Given the description of an element on the screen output the (x, y) to click on. 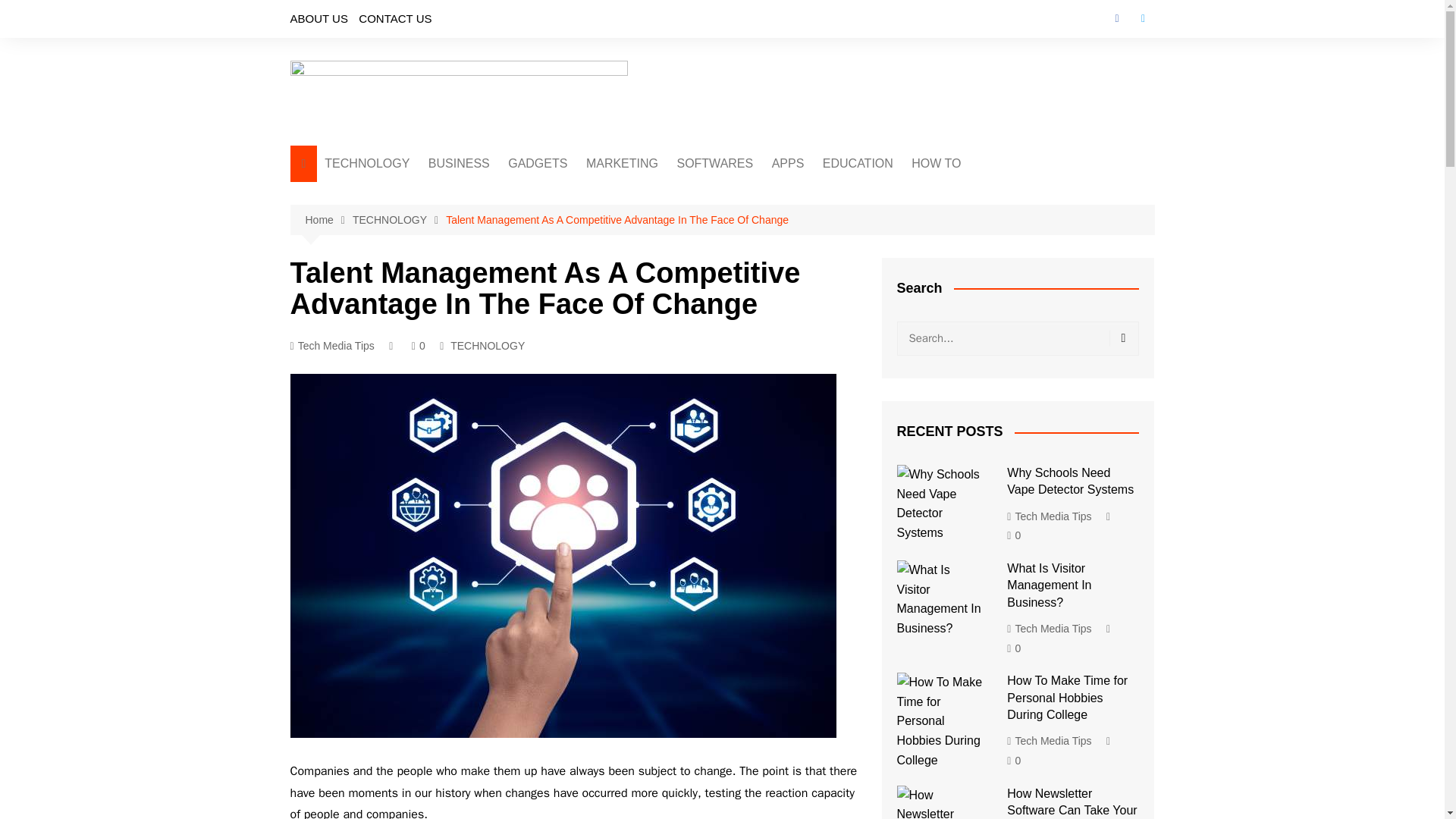
GADGETS (537, 163)
TECHNOLOGY (486, 345)
Facebook (1116, 18)
SOFTWARES (714, 163)
ABOUT US (318, 18)
ARTIFICIAL INTELLIGENCE (400, 200)
CYBER SECURITY (400, 232)
BIG DATA (400, 282)
EDUCATION (858, 163)
APPS (788, 163)
CLOUD COMPUTING (400, 257)
TECHNOLOGY (366, 163)
CONTACT US (394, 18)
SEO (661, 244)
